Given the description of an element on the screen output the (x, y) to click on. 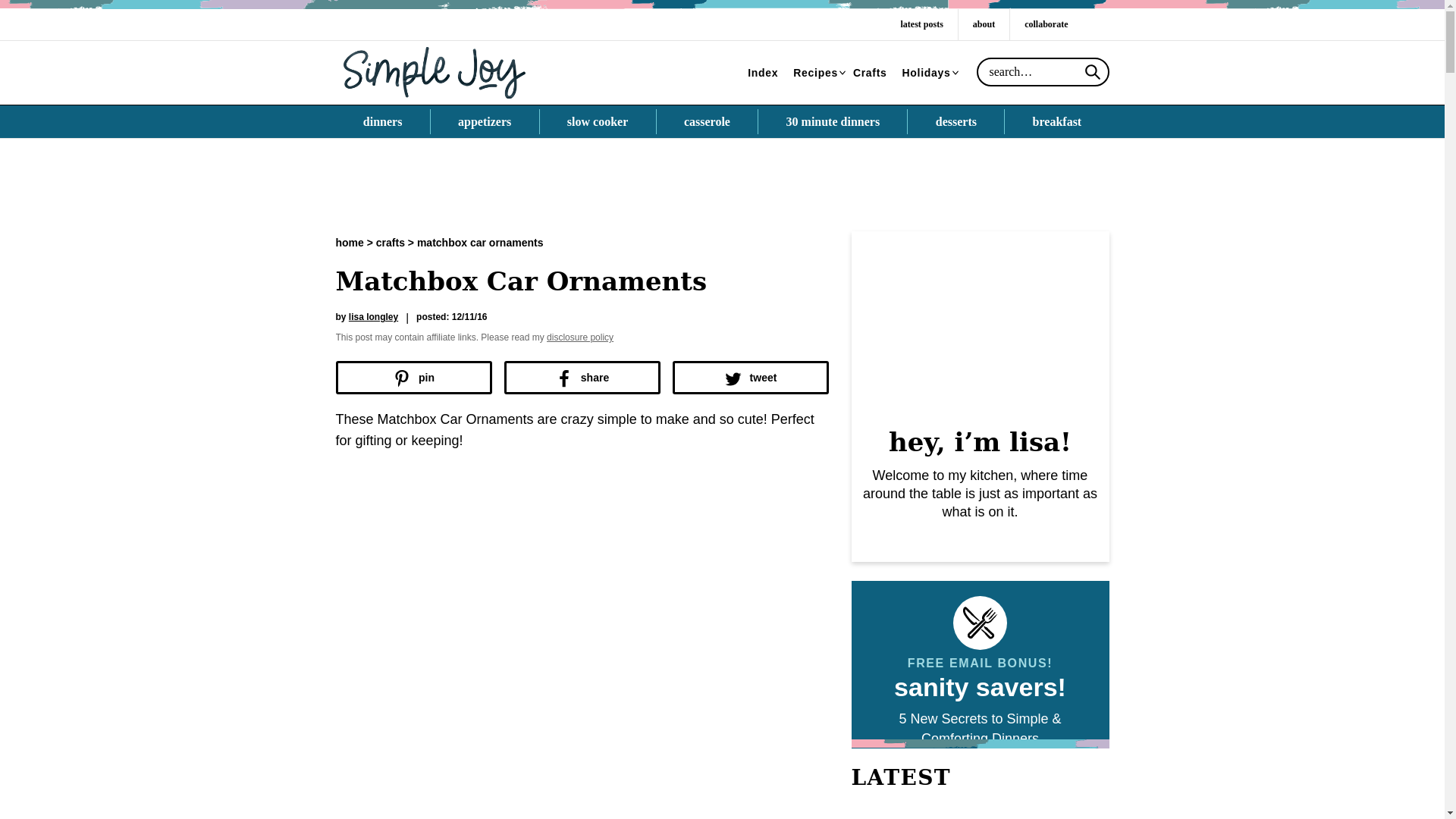
Share on Pinterest (413, 377)
collaborate (1045, 24)
Simple Joy (433, 71)
Search for (1042, 71)
Index (762, 72)
Recipes (815, 72)
Share on Facebook (581, 377)
latest posts (920, 24)
about (983, 24)
Share on Twitter (749, 377)
